Given the description of an element on the screen output the (x, y) to click on. 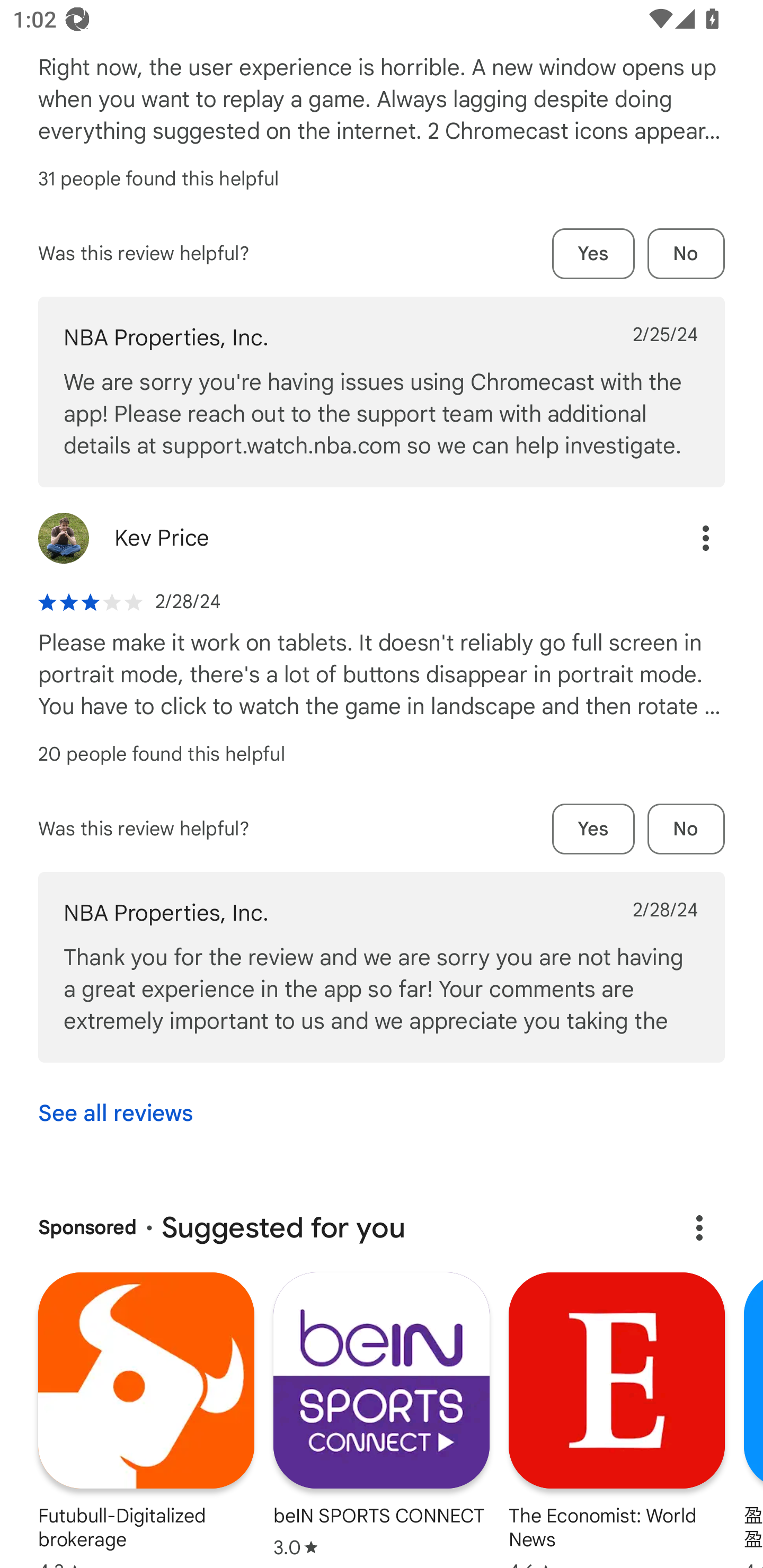
Yes (593, 253)
No (685, 253)
Options (686, 538)
Yes (593, 828)
No (685, 828)
See all reviews (115, 1112)
About this ad (699, 1227)
Futubull-Digitalized brokerage
Star rating: 4.3
 (146, 1419)
beIN SPORTS CONNECT
Star rating: 3.0
 (381, 1416)
The Economist: World News
Star rating: 4.6
 (616, 1419)
